Given the description of an element on the screen output the (x, y) to click on. 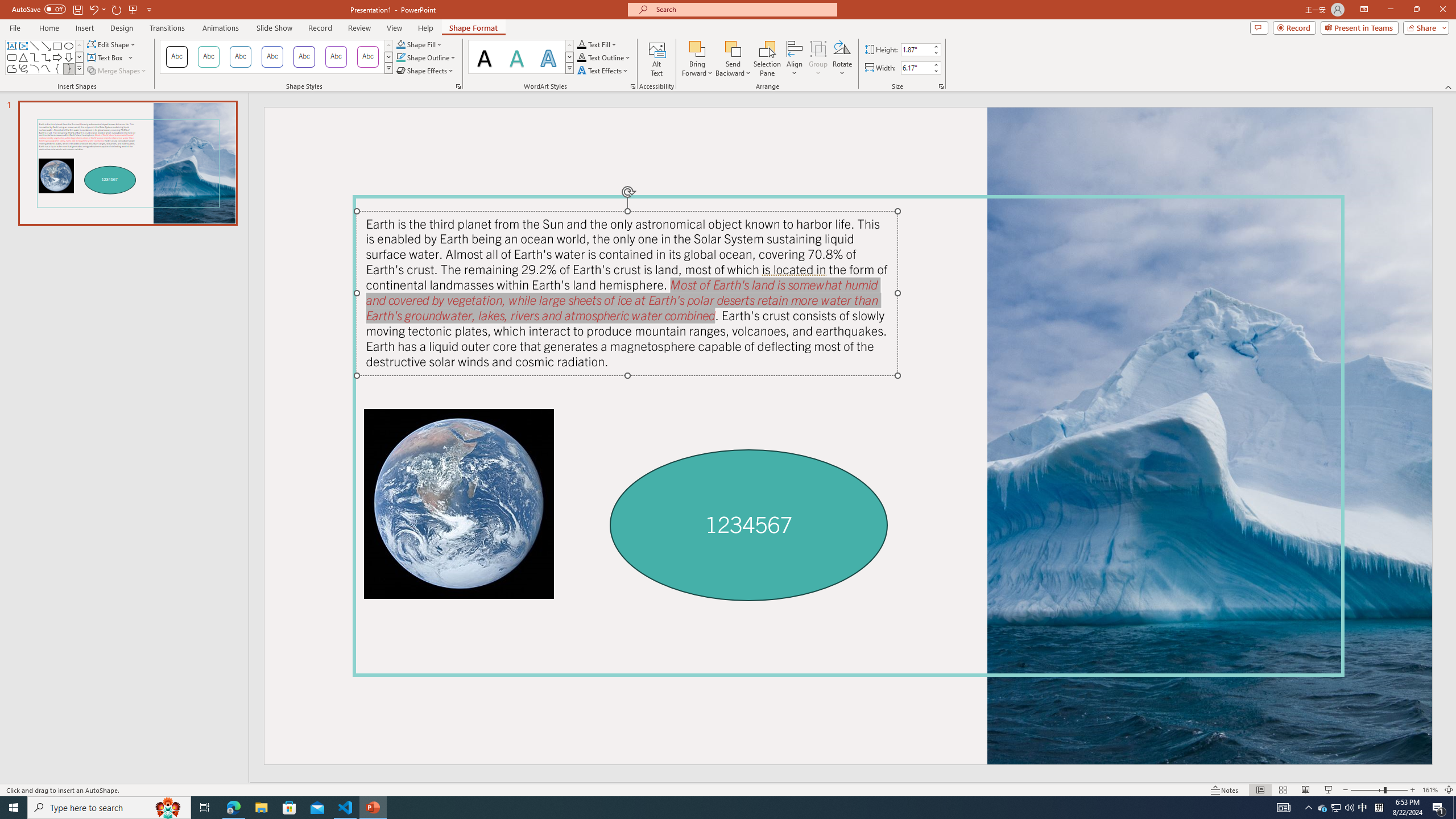
Undo (96, 9)
Shape Effects (425, 69)
Review (359, 28)
Colored Outline - Purple, Accent 4 (304, 56)
Home (48, 28)
Notes  (1225, 790)
Fill: Black, Text color 1; Shadow (484, 56)
Class: MsoCommandBar (728, 789)
Shape Fill (419, 44)
Text Outline (604, 56)
More (935, 64)
Transitions (167, 28)
Arrow: Right (57, 57)
